Given the description of an element on the screen output the (x, y) to click on. 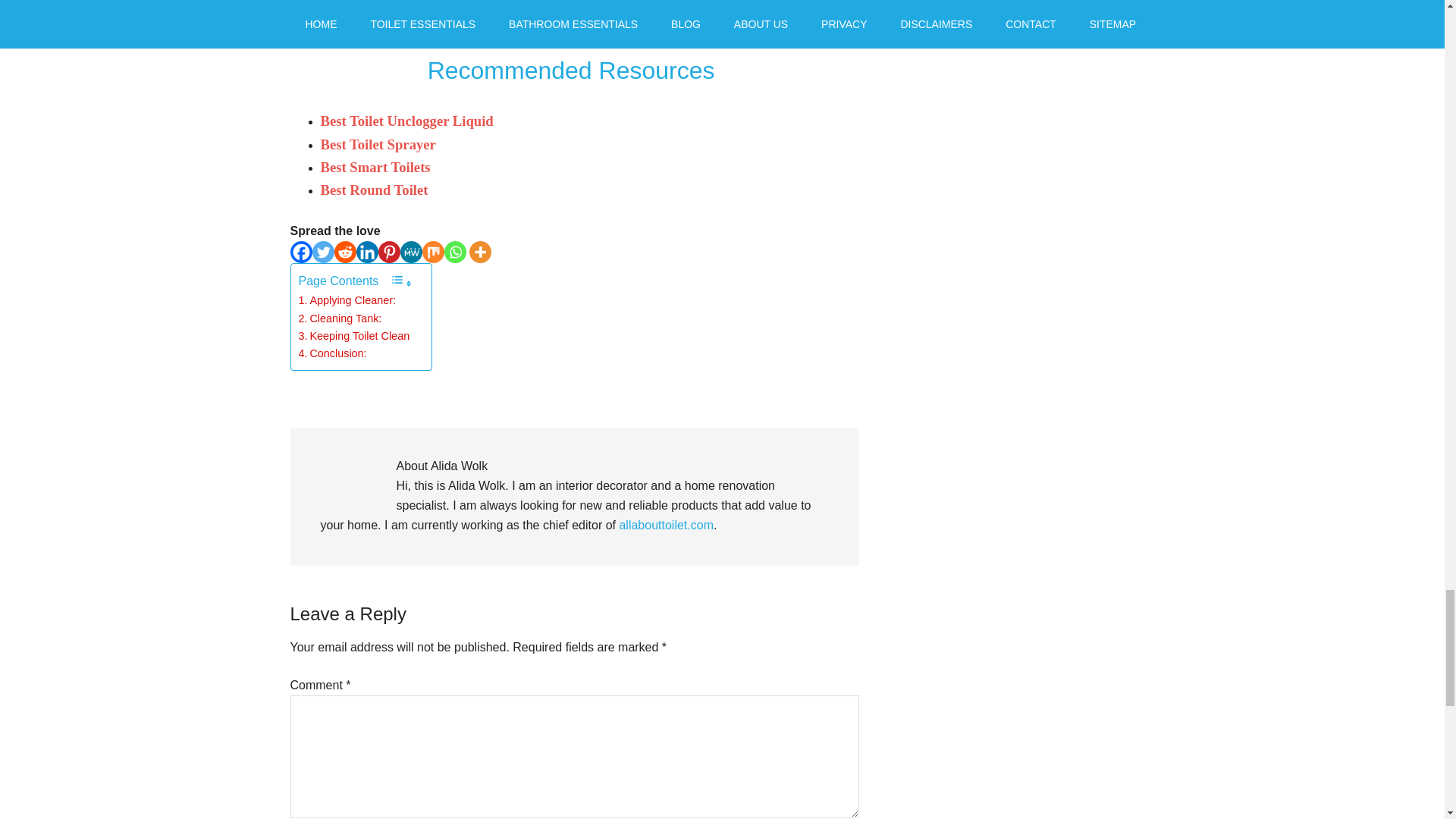
Best Smart Toilets (374, 166)
Best Round Toilet (374, 189)
allabouttoilet.com (665, 524)
Cleaning Tank: (339, 318)
Keeping Toilet Clean (354, 335)
Best Toilet Unclogger Liquid (406, 120)
MeWe (411, 251)
Conclusion: (332, 353)
Cleaning Tank: (339, 318)
Best Toilet Sprayer (377, 144)
